Given the description of an element on the screen output the (x, y) to click on. 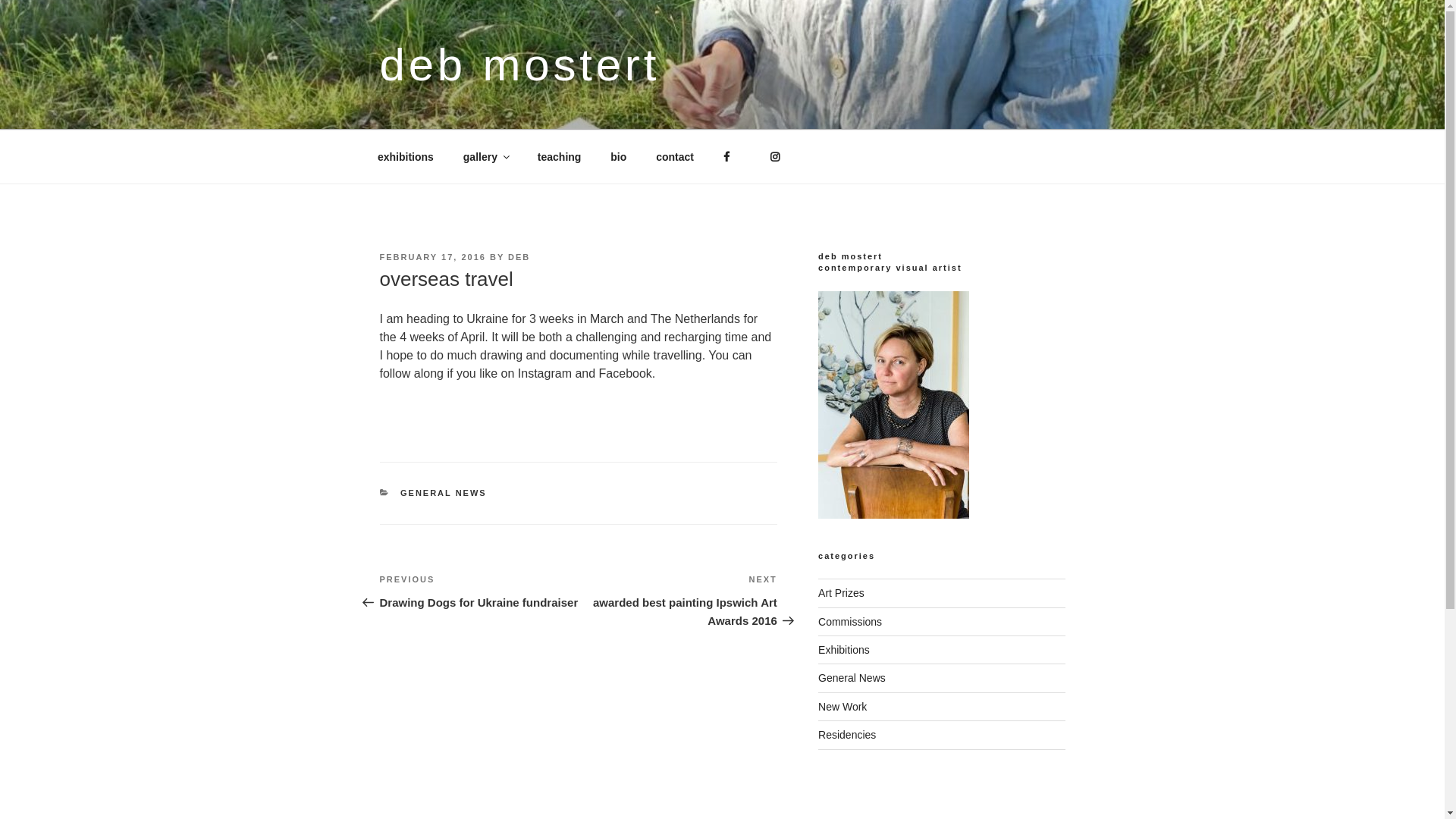
Fa Element type: text (731, 156)
Next Post
NEXT
awarded best painting Ipswich Art Awards 2016 Element type: text (677, 600)
Previous Post
PREVIOUS
Drawing Dogs for Ukraine fundraiser Element type: text (478, 591)
DEB Element type: text (519, 256)
bio Element type: text (618, 156)
FEBRUARY 17, 2016 Element type: text (432, 256)
deb mostert Element type: text (519, 64)
New Work Element type: text (842, 706)
Commissions Element type: text (849, 621)
gallery Element type: text (484, 156)
Art Prizes Element type: text (841, 592)
In Element type: text (780, 156)
Residencies Element type: text (846, 734)
exhibitions Element type: text (405, 156)
GENERAL NEWS Element type: text (443, 492)
contact Element type: text (675, 156)
Exhibitions Element type: text (843, 649)
General News Element type: text (851, 677)
teaching Element type: text (559, 156)
